Given the description of an element on the screen output the (x, y) to click on. 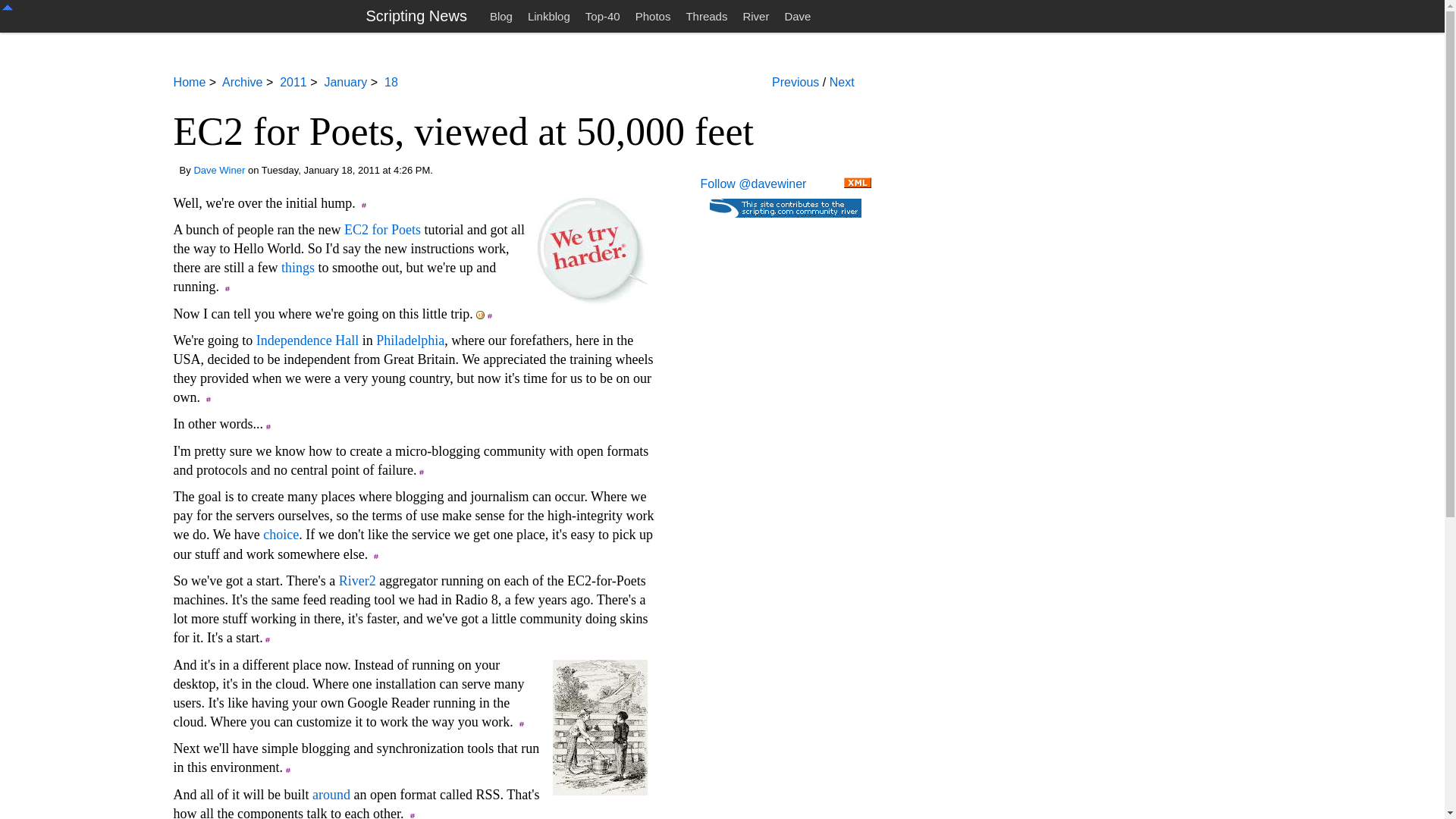
things (297, 267)
Threads (706, 15)
choice (280, 534)
EC2 for Poets (381, 229)
Photos (652, 15)
Archive (242, 82)
Blog (500, 15)
Home (189, 82)
Philadelphia (409, 340)
River2 (357, 580)
